Given the description of an element on the screen output the (x, y) to click on. 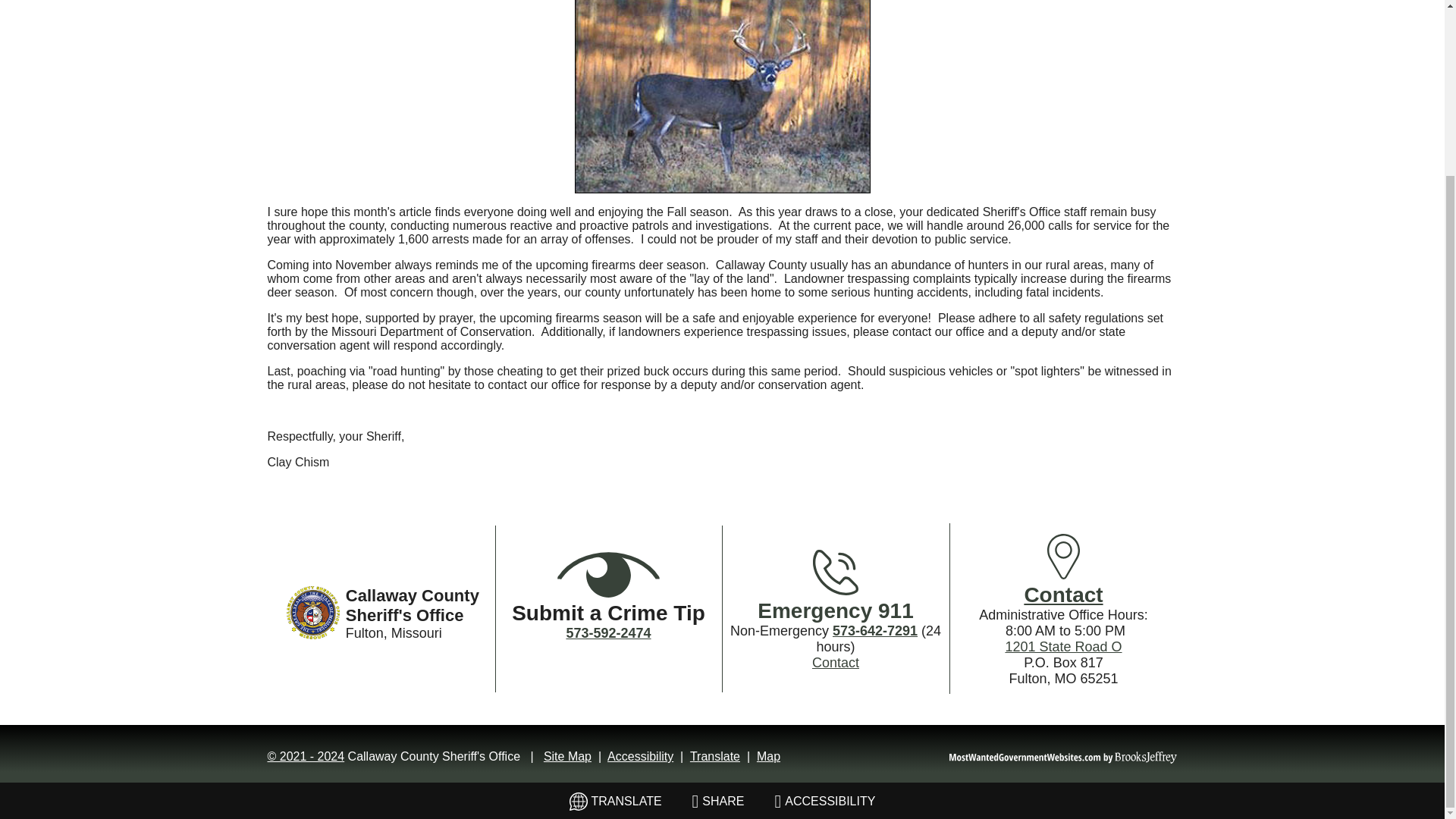
Contact (1062, 594)
1201 State Road O (1062, 646)
Translate (714, 756)
Contact (835, 662)
Accessibility (639, 756)
Emergency 911 (834, 610)
573-592-2474 (608, 632)
573-642-7291 (874, 630)
Site Map (567, 756)
